Given the description of an element on the screen output the (x, y) to click on. 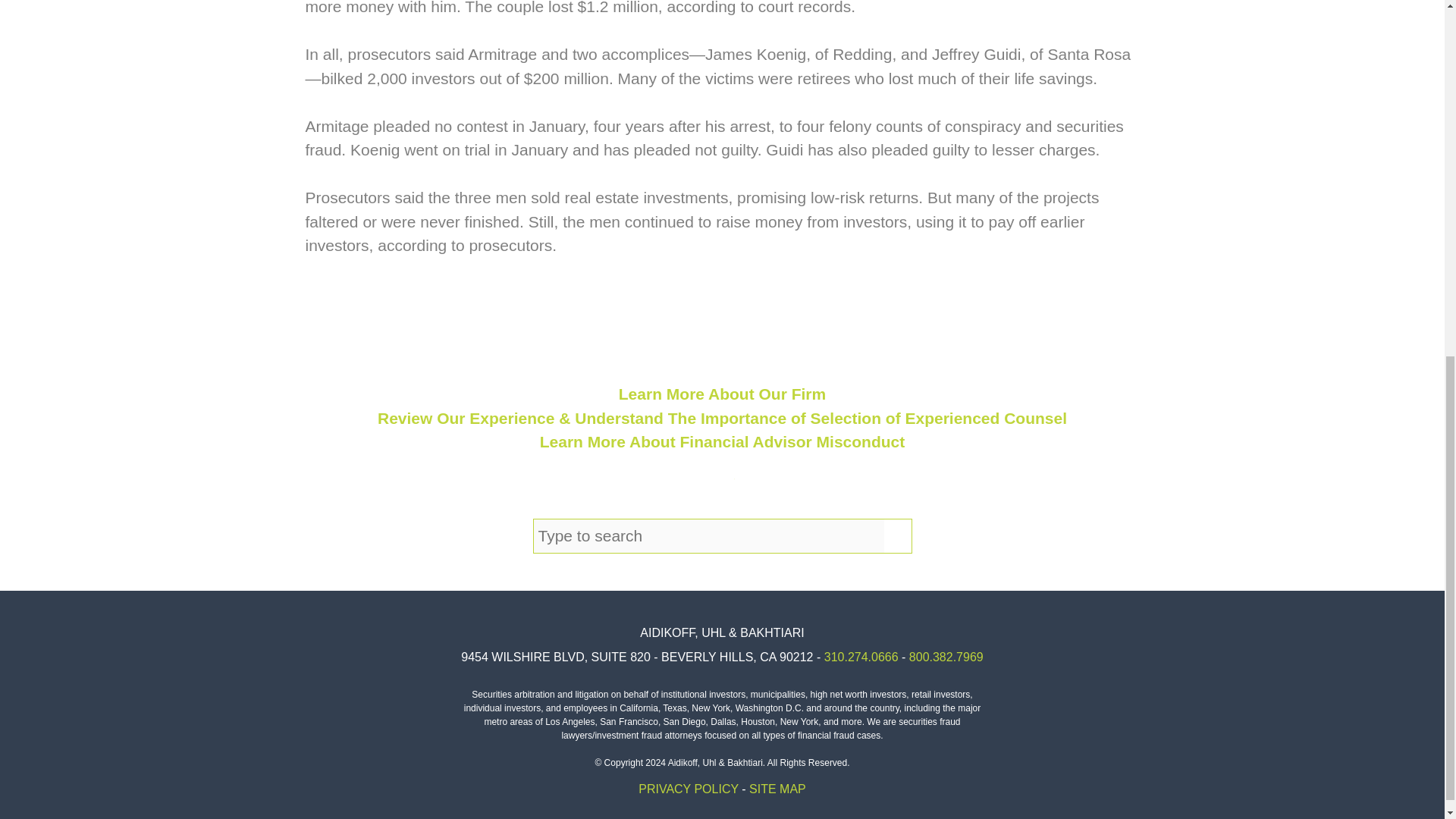
LinkedIn (754, 489)
Facebook (689, 489)
Learn More About Financial Advisor Misconduct (722, 441)
SITE MAP (777, 788)
310.274.0666 (861, 656)
800.382.7969 (946, 656)
Twitter (721, 489)
PRIVACY POLICY (688, 788)
Learn More About Our Firm (721, 393)
